Given the description of an element on the screen output the (x, y) to click on. 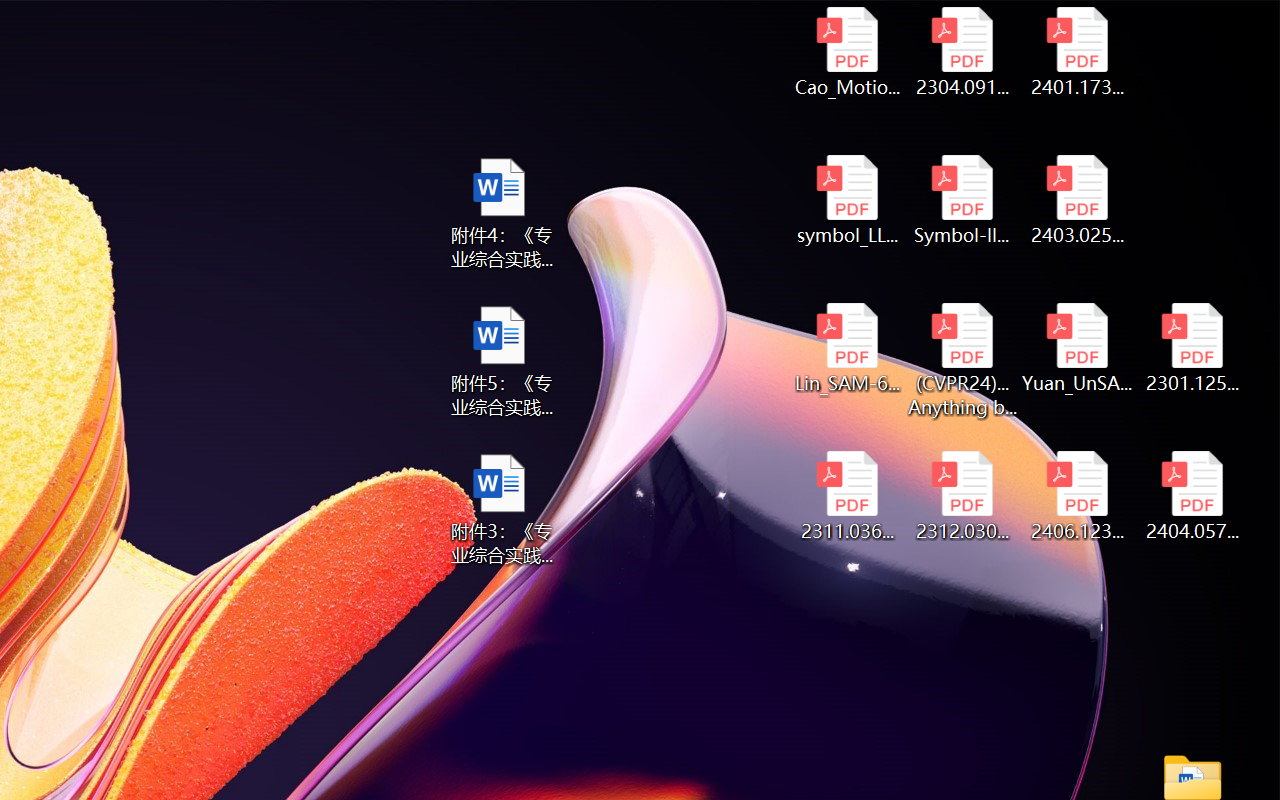
symbol_LLM.pdf (846, 200)
2404.05719v1.pdf (1192, 496)
(CVPR24)Matching Anything by Segmenting Anything.pdf (962, 360)
2403.02502v1.pdf (1077, 200)
2304.09121v3.pdf (962, 52)
Symbol-llm-v2.pdf (962, 200)
2301.12597v3.pdf (1192, 348)
2312.03032v2.pdf (962, 496)
2406.12373v2.pdf (1077, 496)
2311.03658v2.pdf (846, 496)
